Given the description of an element on the screen output the (x, y) to click on. 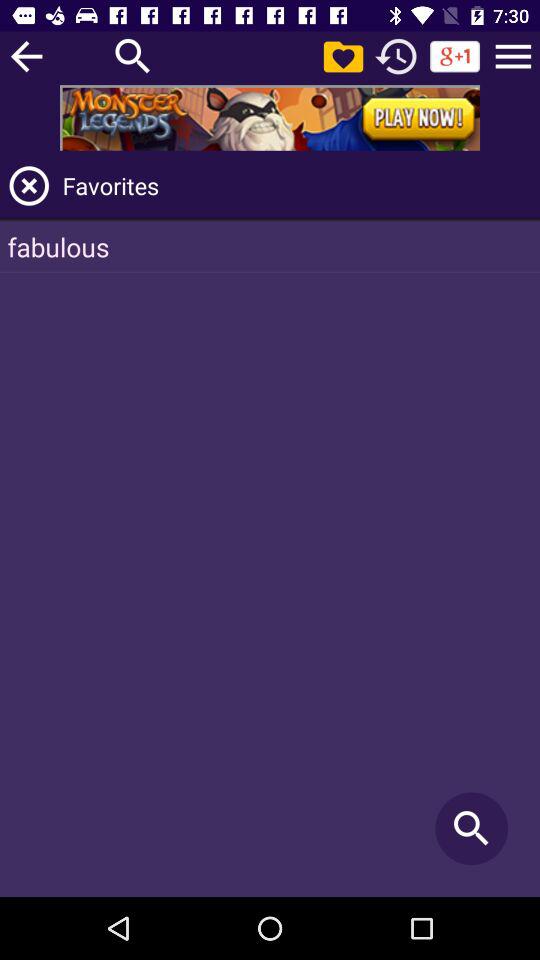
turn on app to the left of favorites icon (29, 185)
